Given the description of an element on the screen output the (x, y) to click on. 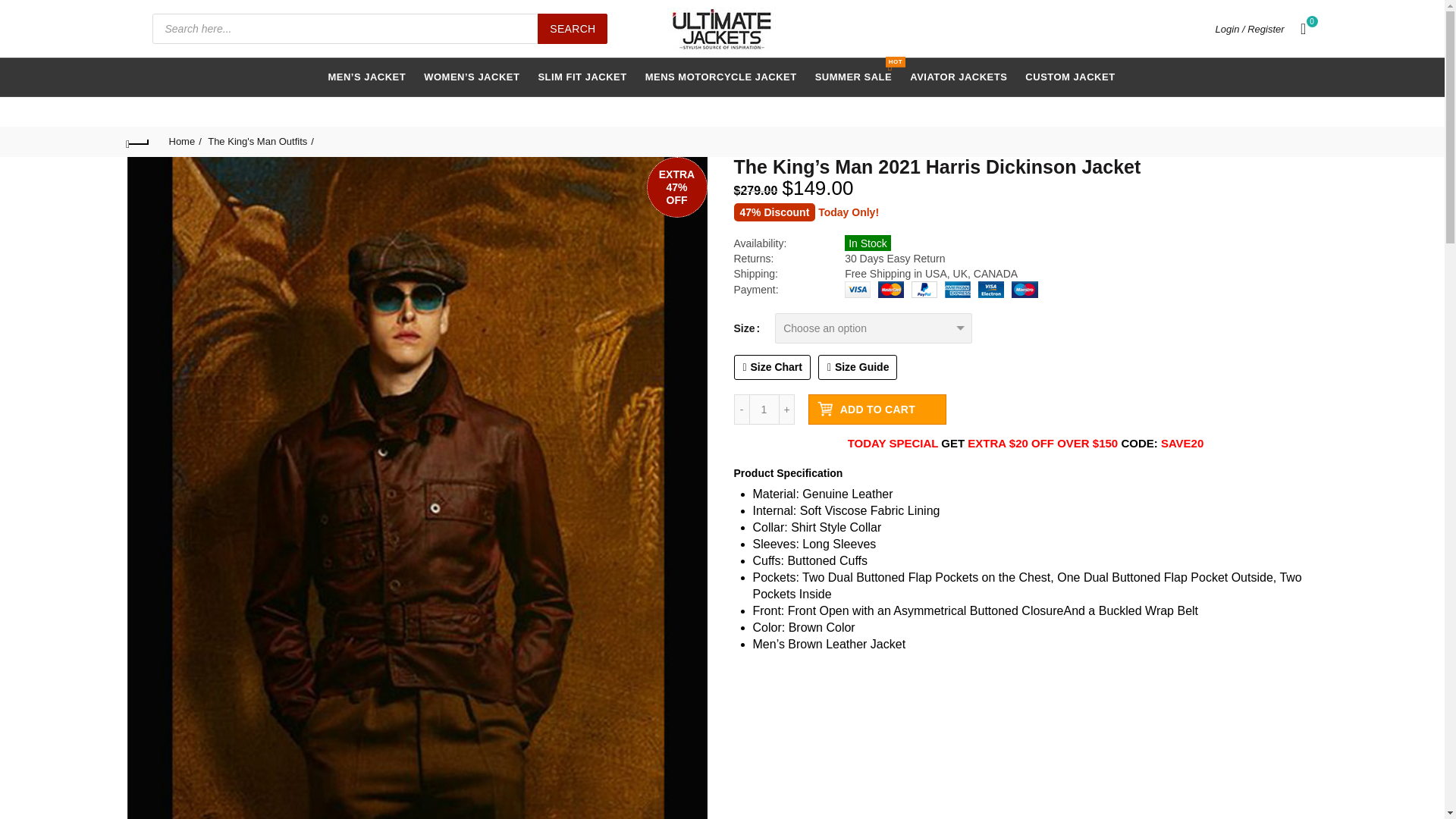
AVIATOR JACKETS (853, 77)
Qty (957, 77)
Home (763, 409)
CUSTOM JACKET (184, 141)
Size Guide (1069, 77)
ADD TO CART (858, 367)
SLIM FIT JACKET (877, 409)
1 (581, 77)
0 (763, 409)
